Given the description of an element on the screen output the (x, y) to click on. 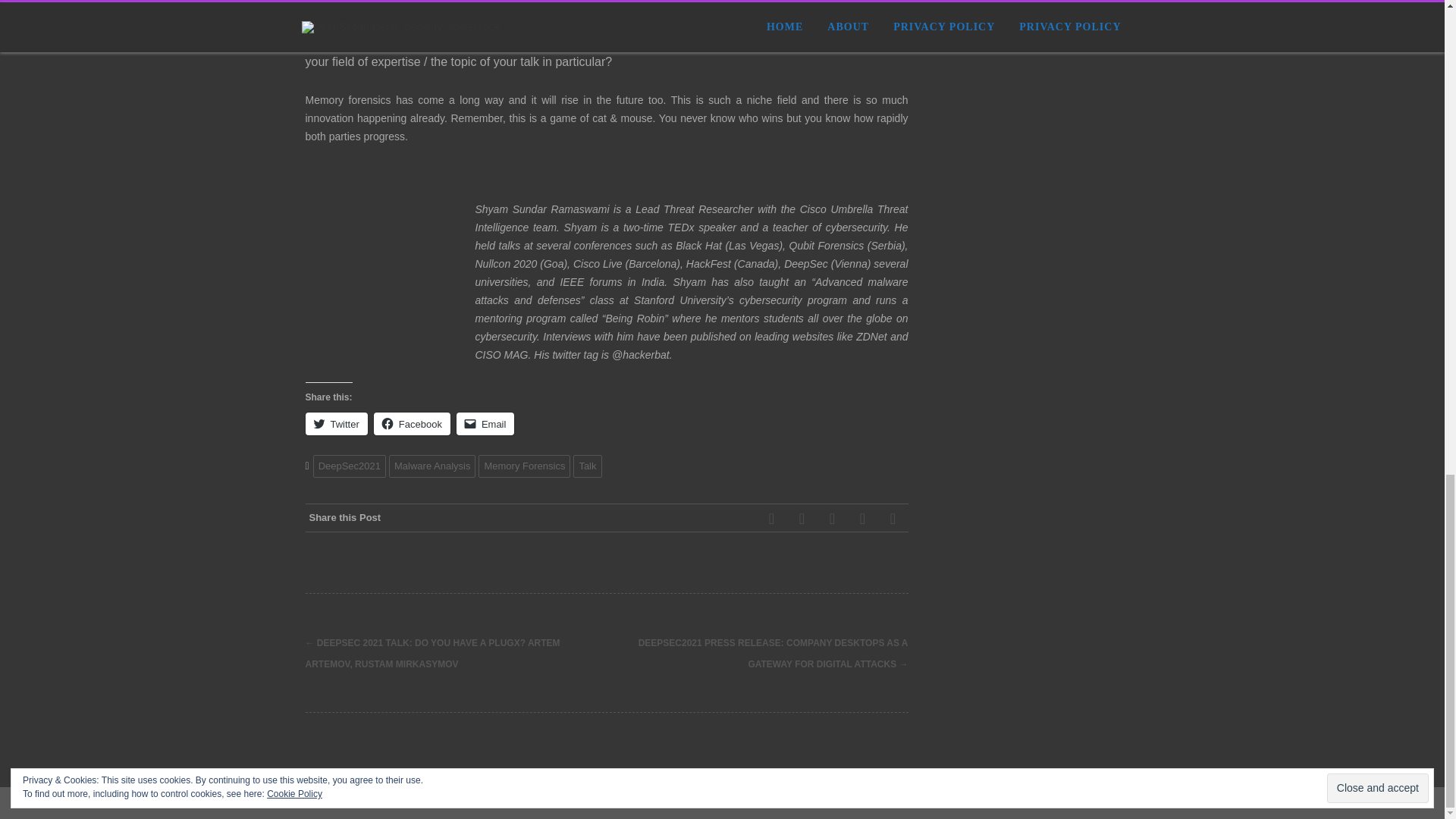
Malware Analysis (432, 466)
Talk (587, 466)
Instagram (862, 517)
RSS (831, 517)
Memory Forensics (524, 466)
Pinterest (772, 517)
Email (486, 423)
Facebook (411, 423)
DeepSec2021 (349, 466)
Twitter (335, 423)
